Given the description of an element on the screen output the (x, y) to click on. 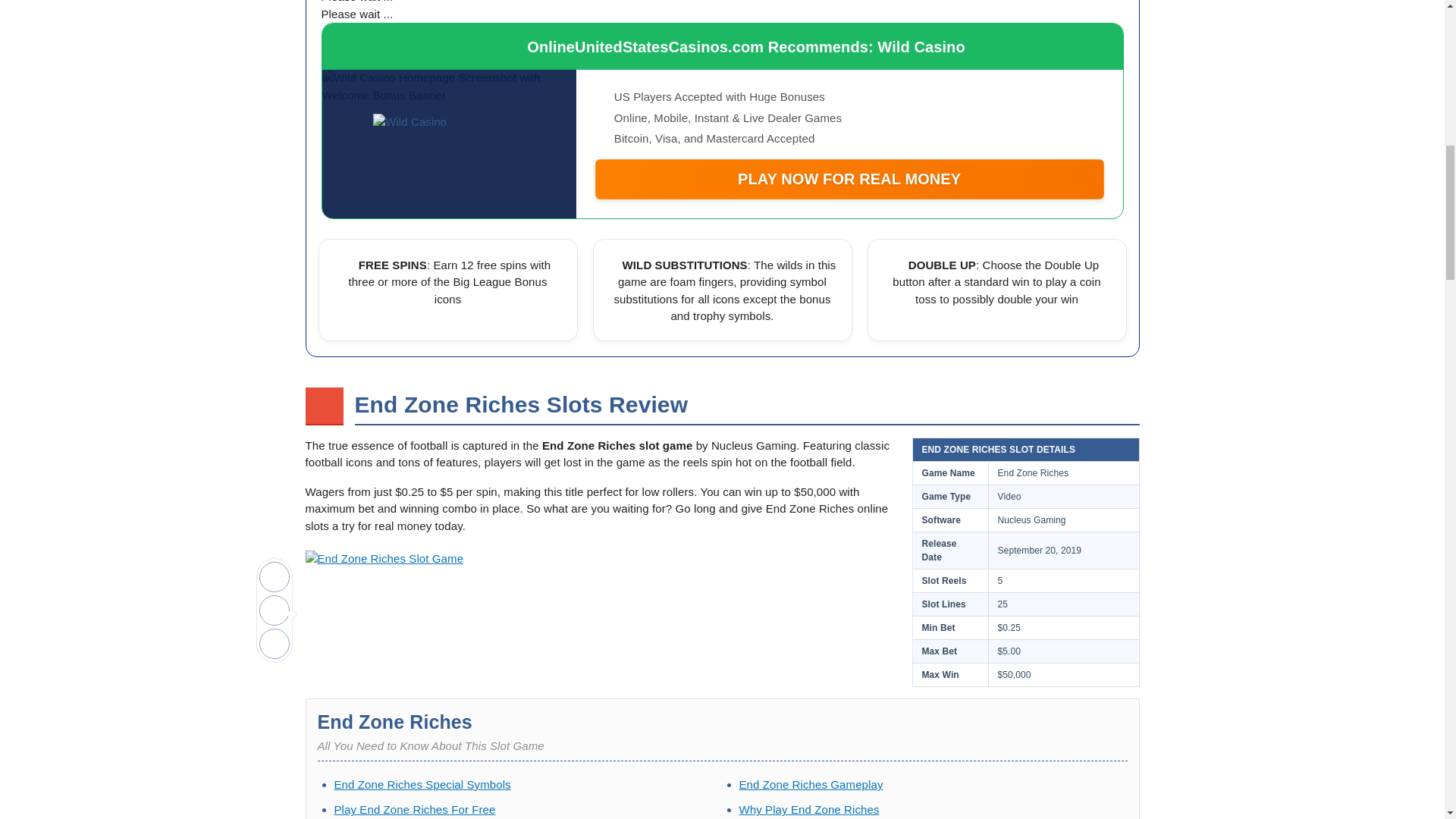
Wild Casino (448, 143)
Share on Reddit (274, 643)
Share on Twitter (274, 610)
Share on Facebook (274, 576)
